Given the description of an element on the screen output the (x, y) to click on. 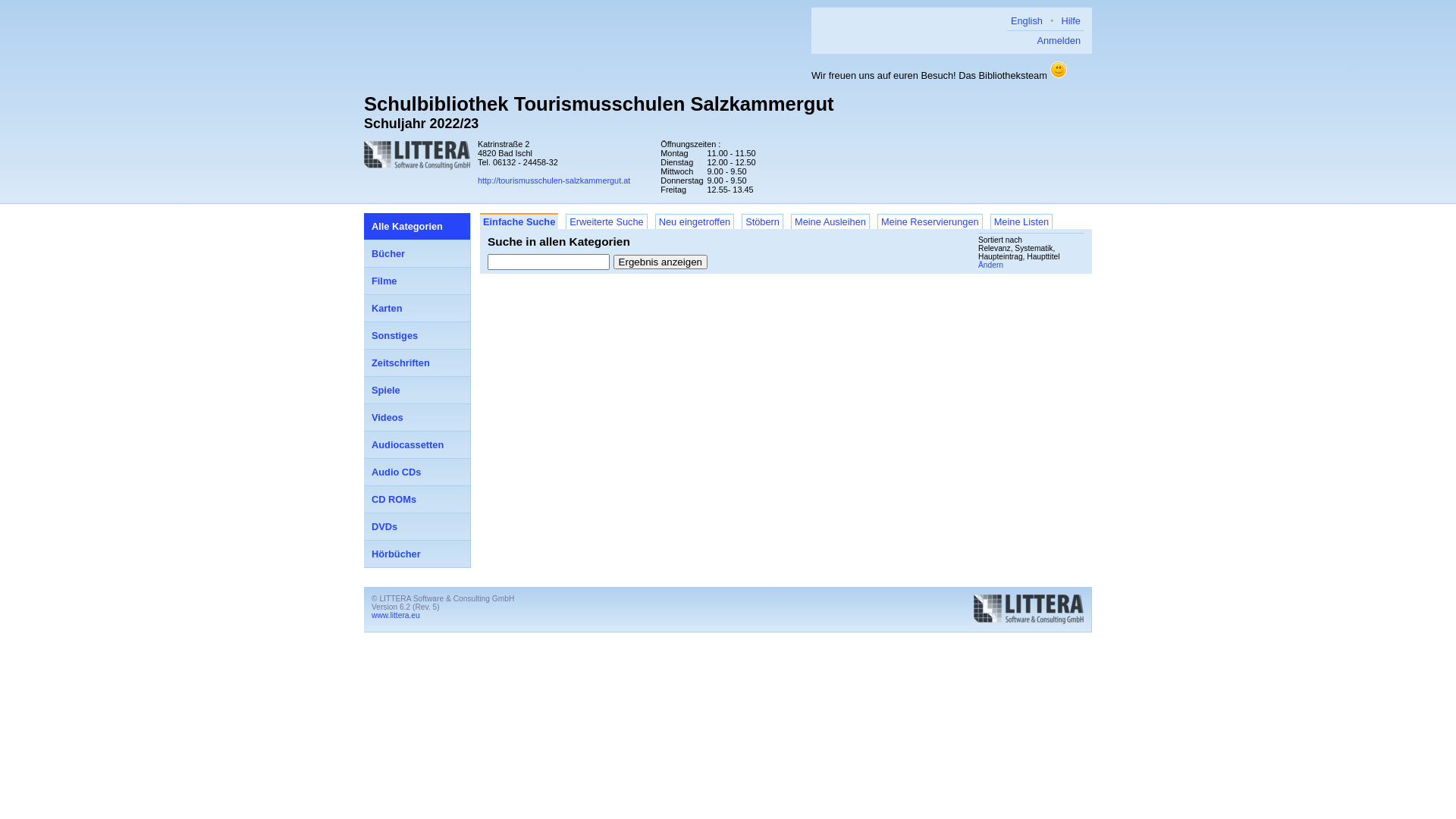
Sonstiges Element type: text (417, 335)
Schulbibliothek Tourismusschulen Salzkammergut Element type: text (599, 103)
Videos Element type: text (417, 417)
http://tourismusschulen-salzkammergut.at Element type: text (553, 180)
Alle Kategorien Element type: text (417, 226)
Karten Element type: text (417, 308)
www.littera.eu Element type: text (395, 615)
Meine Reservierungen Element type: text (929, 221)
CD ROMs Element type: text (417, 499)
Einfache Suche Element type: text (519, 221)
Meine Listen Element type: text (1021, 221)
Audiocassetten Element type: text (417, 444)
English Element type: text (1026, 21)
Hilfe Element type: text (1070, 21)
DVDs Element type: text (417, 526)
Erweiterte Suche Element type: text (605, 221)
Filme Element type: text (417, 280)
Neu eingetroffen Element type: text (694, 221)
Audio CDs Element type: text (417, 472)
Ergebnis anzeigen Element type: text (660, 261)
Anmelden Element type: text (1058, 40)
Zeitschriften Element type: text (417, 362)
smiley Element type: hover (1057, 69)
Spiele Element type: text (417, 390)
Meine Ausleihen Element type: text (829, 221)
